Given the description of an element on the screen output the (x, y) to click on. 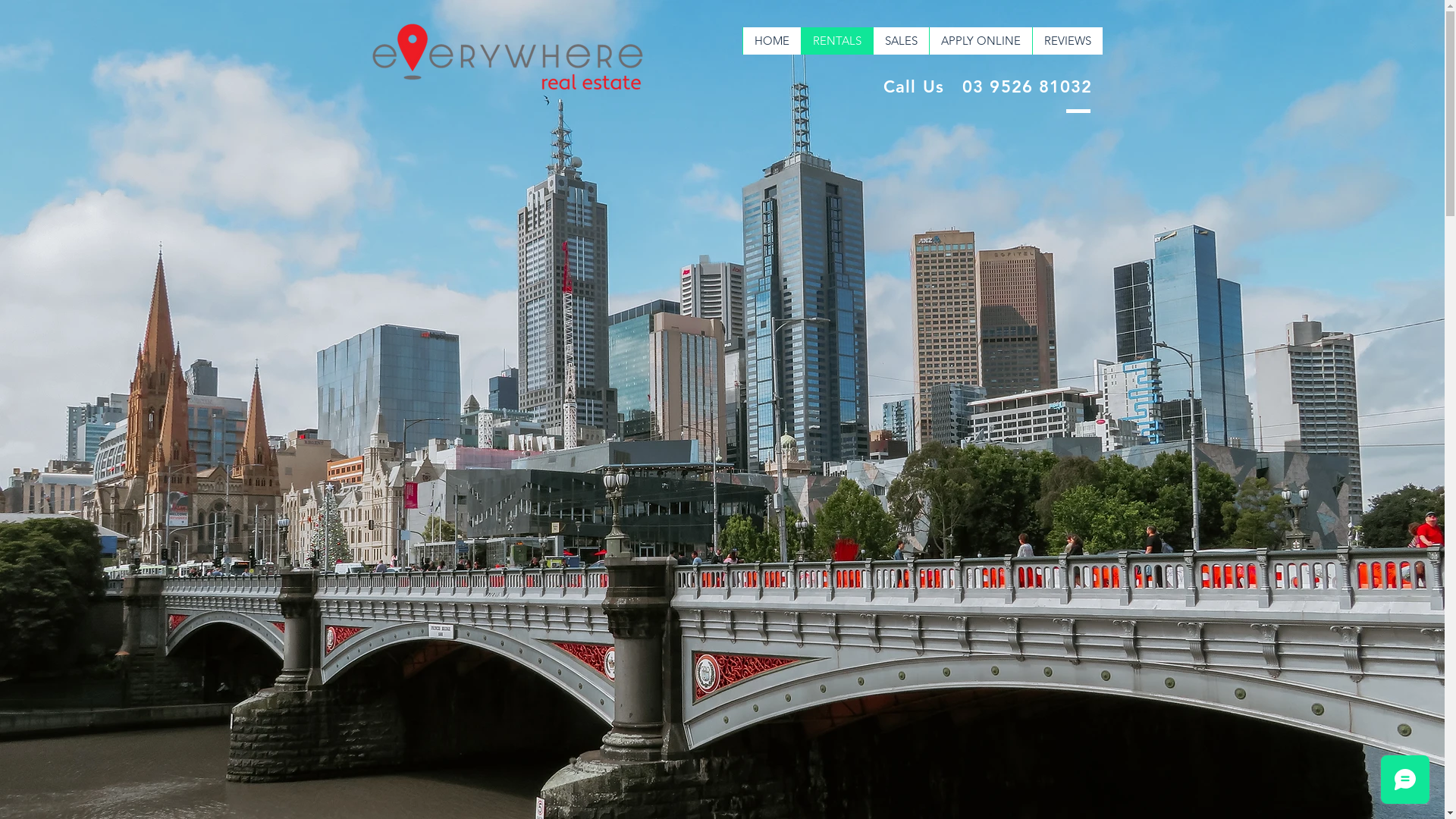
SALES Element type: text (900, 40)
APPLY ONLINE Element type: text (979, 40)
REVIEWS Element type: text (1066, 40)
RENTALS Element type: text (836, 40)
HOME Element type: text (770, 40)
